Given the description of an element on the screen output the (x, y) to click on. 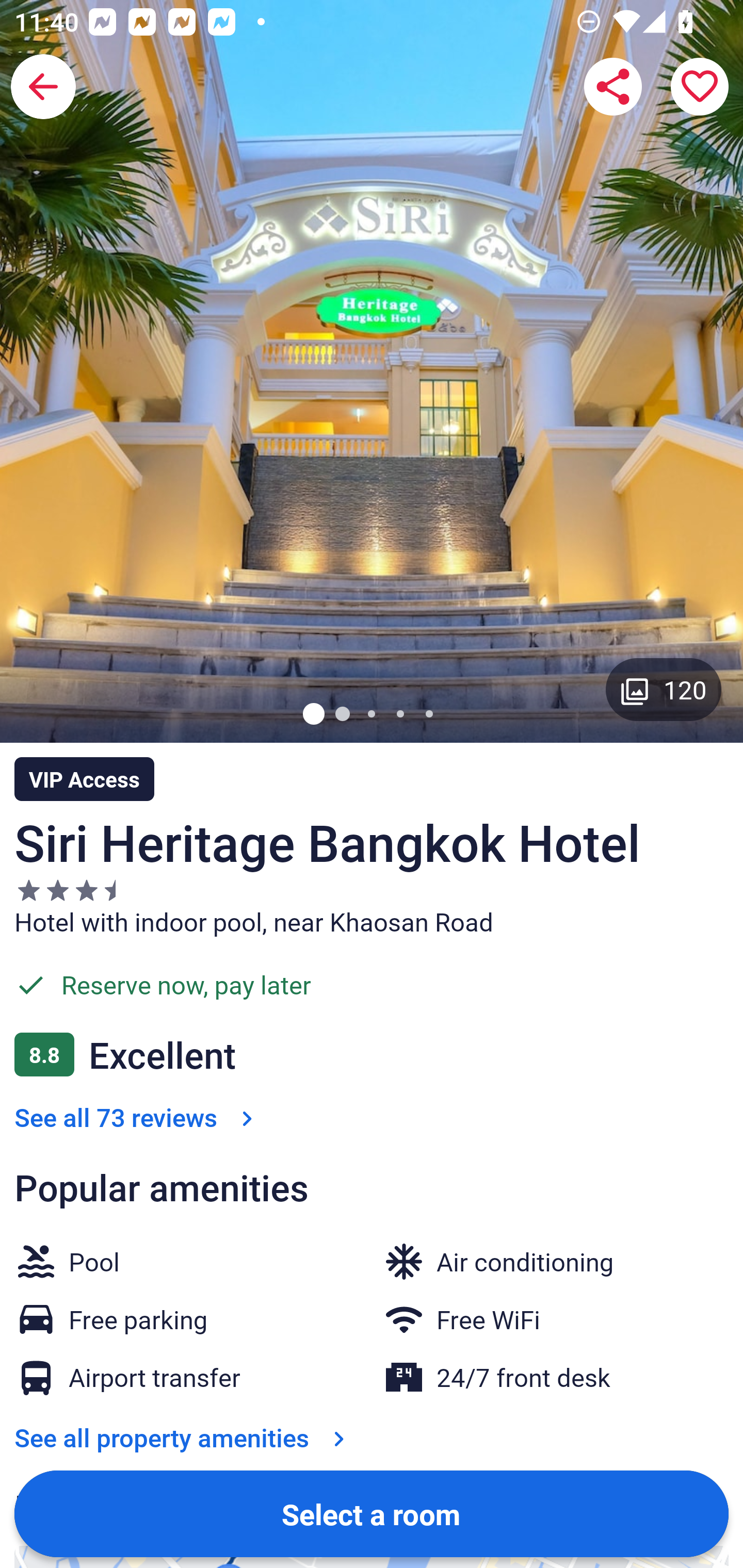
Back (43, 86)
Save property to a trip (699, 86)
Share Siri Heritage Bangkok Hotel (612, 87)
Gallery button with 120 images (663, 689)
See all 73 reviews See all 73 reviews Link (137, 1117)
See all property amenities (183, 1436)
Select a room Button Select a room (371, 1513)
